Given the description of an element on the screen output the (x, y) to click on. 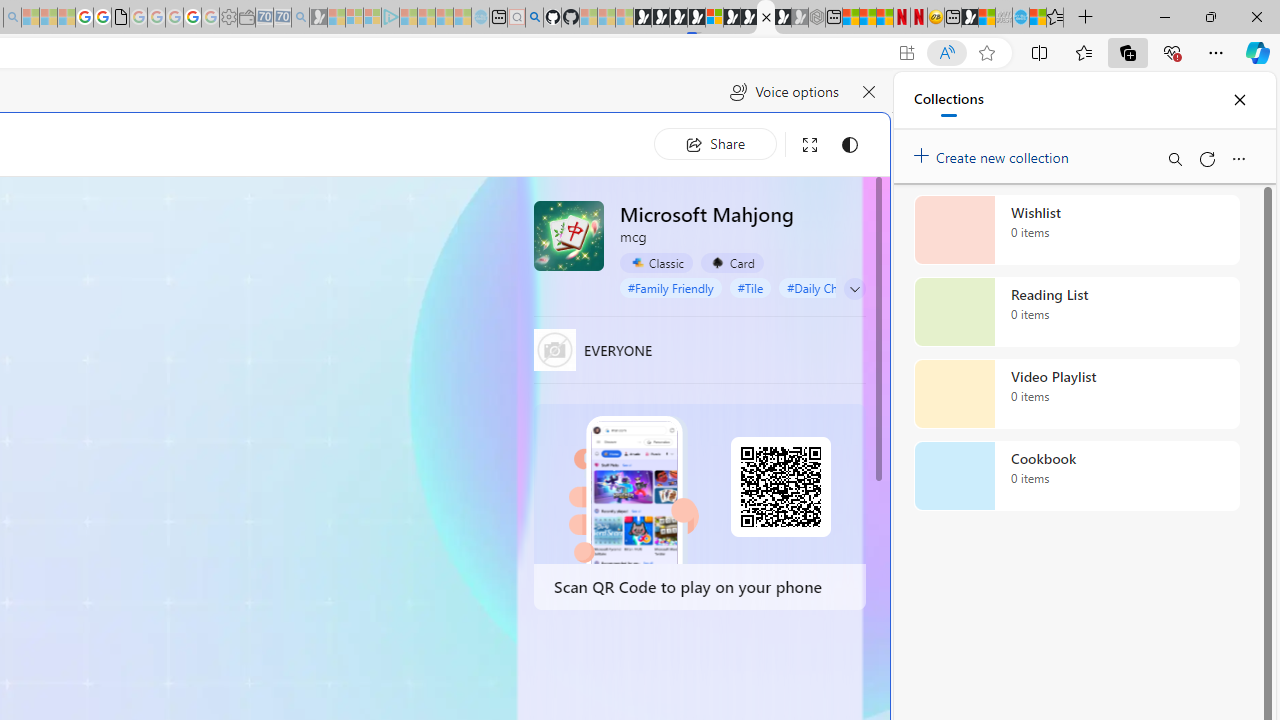
New tab (952, 17)
Microsoft Start Gaming - Sleeping (317, 17)
Collections (1128, 52)
Create new collection (994, 153)
Browser essentials (1171, 52)
New Tab (1085, 17)
Video Playlist collection, 0 items (1076, 394)
App available. Install Microsoft Mahjong (906, 53)
Wallet - Sleeping (246, 17)
Services - Maintenance | Sky Blue Bikes - Sky Blue Bikes (1020, 17)
